Given the description of an element on the screen output the (x, y) to click on. 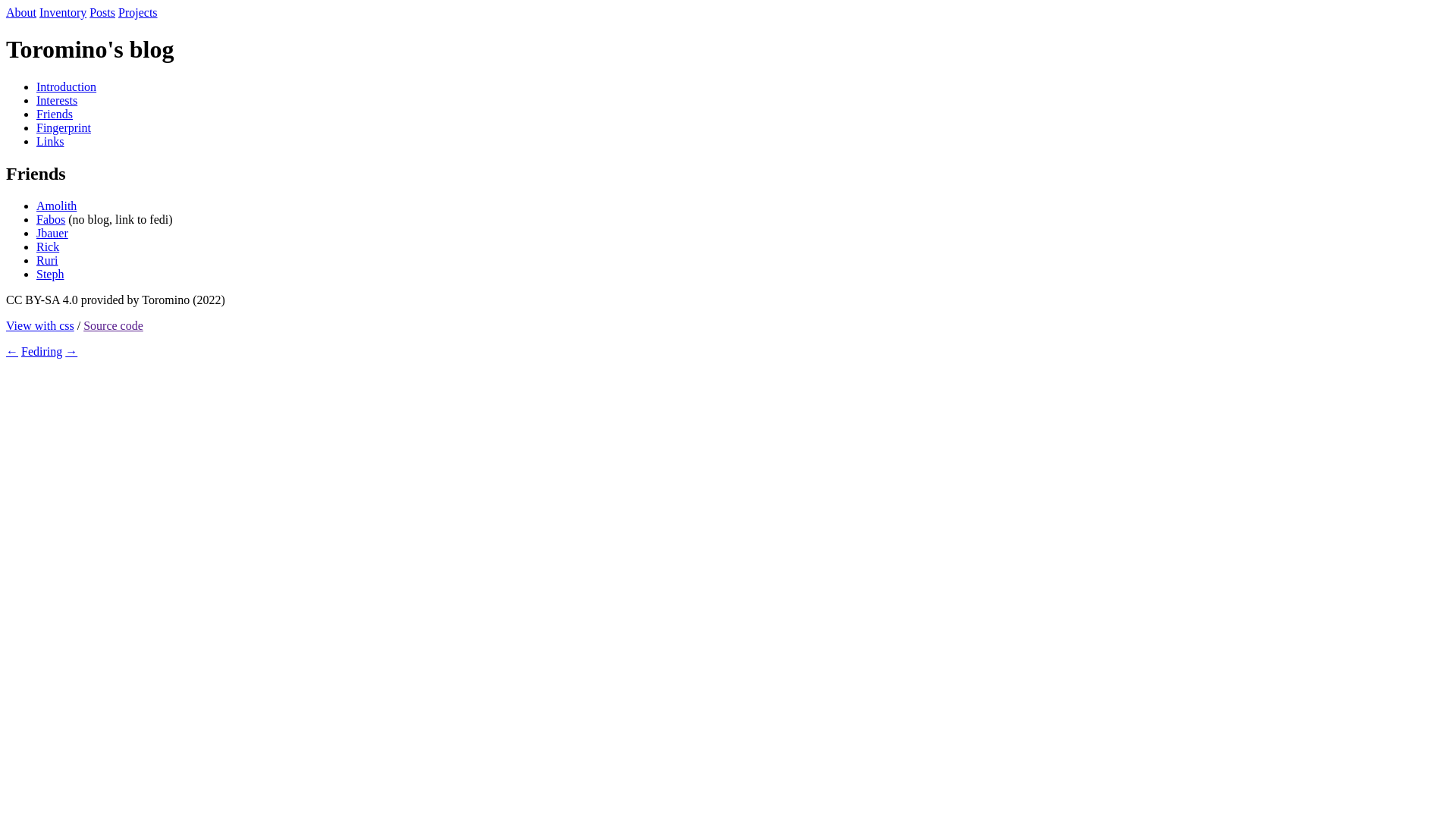
Amolith Element type: text (56, 205)
Ruri Element type: text (46, 260)
Interests Element type: text (56, 100)
Fingerprint Element type: text (63, 127)
Rick Element type: text (47, 246)
Fediring Element type: text (41, 351)
Projects Element type: text (137, 12)
About Element type: text (21, 12)
Friends Element type: text (54, 113)
Jbauer Element type: text (52, 232)
Introduction Element type: text (66, 86)
Inventory Element type: text (62, 12)
Source code Element type: text (113, 325)
Fabos Element type: text (50, 219)
Posts Element type: text (102, 12)
Links Element type: text (49, 140)
Steph Element type: text (49, 273)
View with css Element type: text (40, 325)
